Given the description of an element on the screen output the (x, y) to click on. 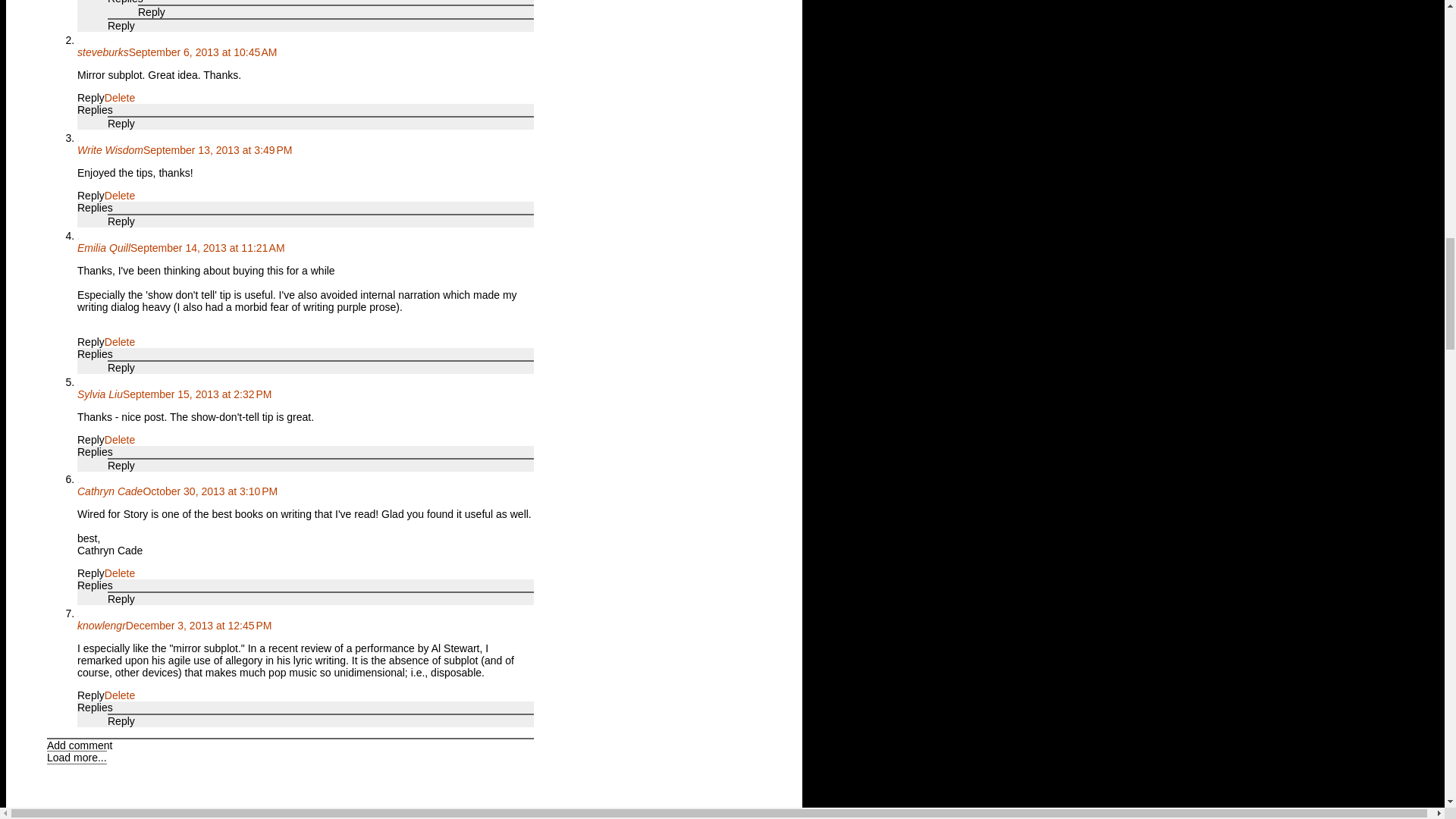
steveburks (103, 51)
Reply (121, 25)
Delete (119, 97)
Reply (121, 123)
Write Wisdom (109, 150)
Replies (95, 110)
Reply (151, 11)
Reply (90, 97)
Replies (124, 2)
